Given the description of an element on the screen output the (x, y) to click on. 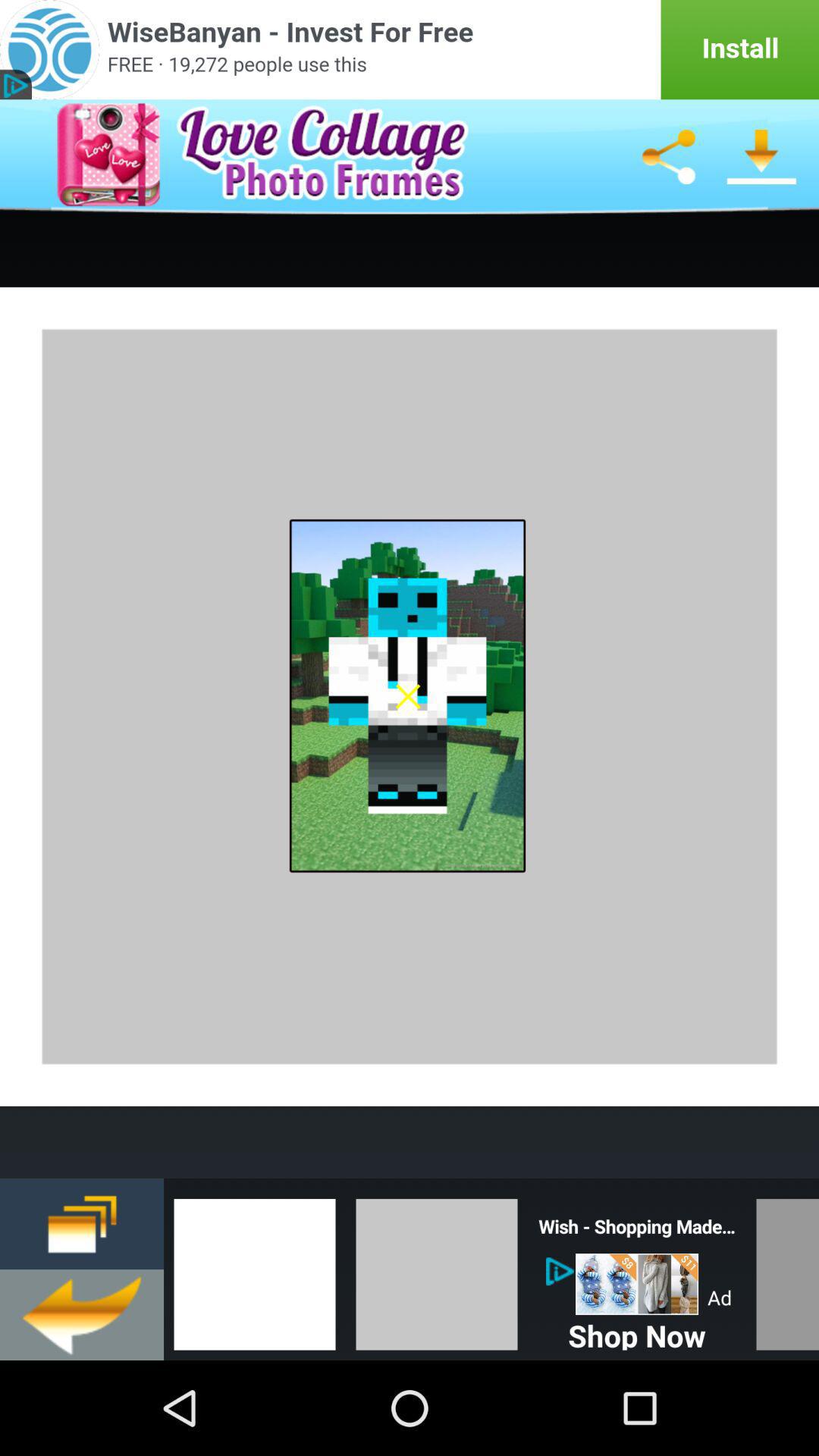
back (81, 1314)
